Given the description of an element on the screen output the (x, y) to click on. 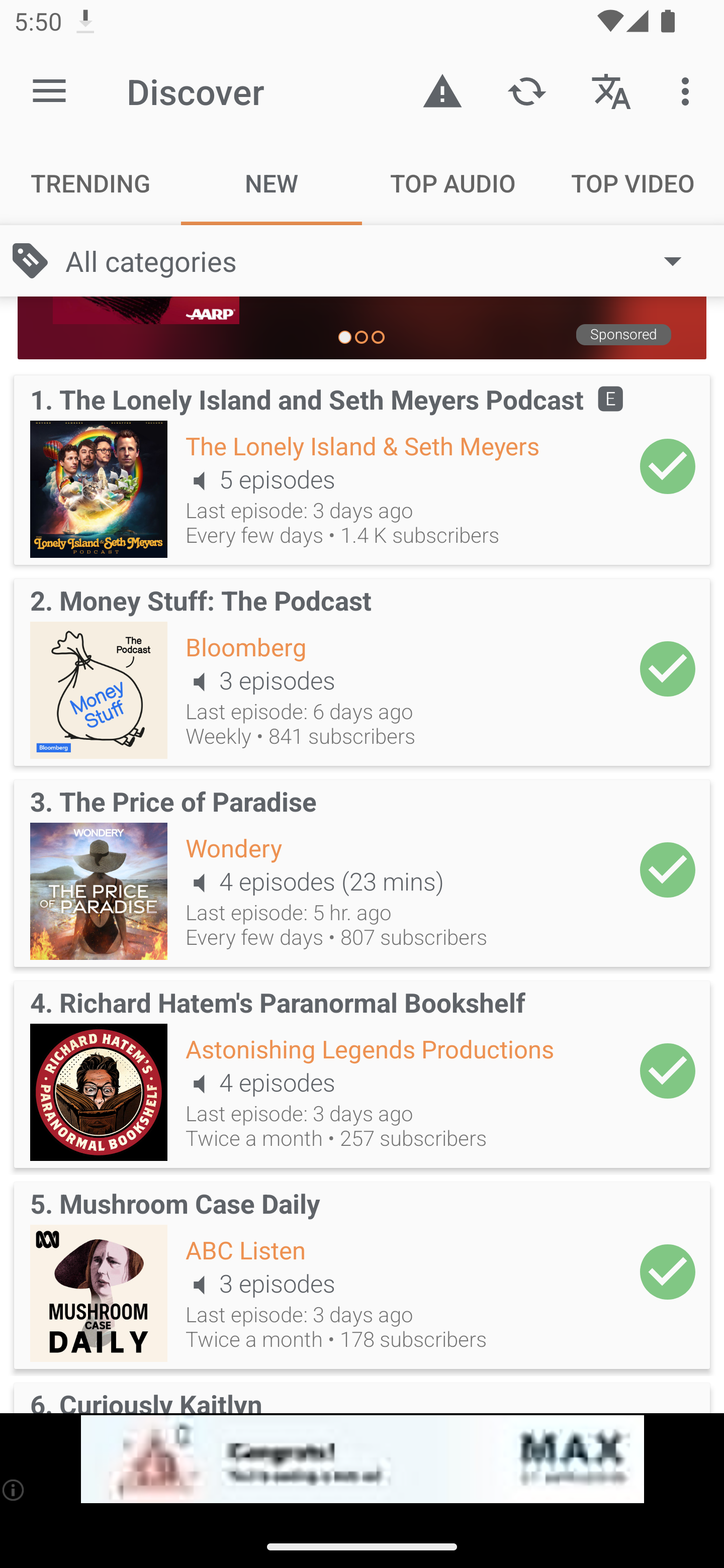
Open navigation sidebar (49, 91)
Report inappropriate content (442, 90)
Update top podcasts list (526, 90)
Podcast languages (611, 90)
More options (688, 90)
Trending TRENDING (90, 183)
Top Audio TOP AUDIO (452, 183)
Top Video TOP VIDEO (633, 183)
All categories (383, 260)
Add (667, 466)
Add (667, 669)
Add (667, 869)
Add (667, 1070)
Add (667, 1271)
app-monetization (362, 1459)
(i) (14, 1489)
